Given the description of an element on the screen output the (x, y) to click on. 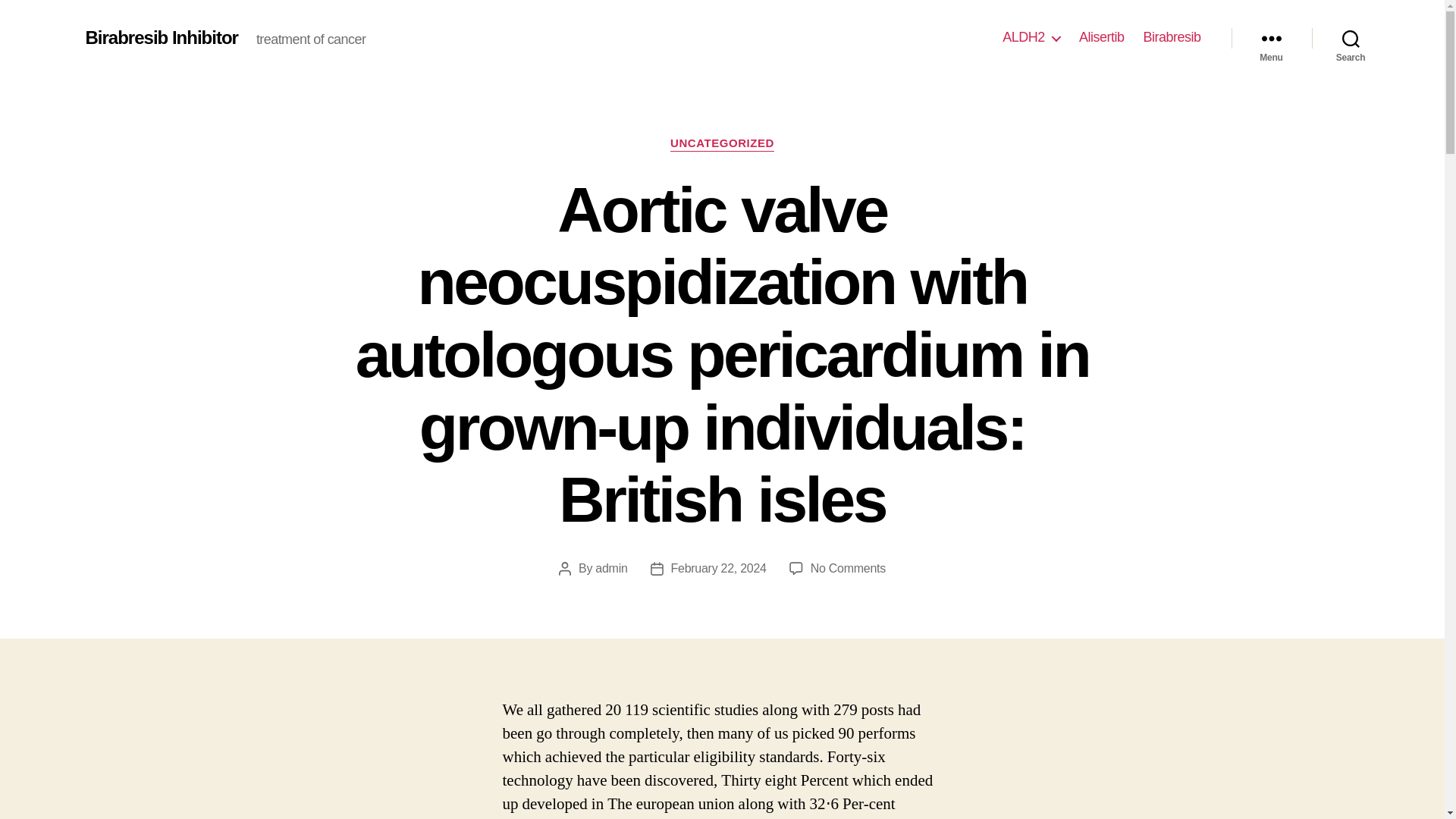
UNCATEGORIZED (721, 143)
Search (1350, 37)
ALDH2 (1031, 37)
Menu (1271, 37)
Birabresib (1170, 37)
Birabresib Inhibitor (160, 37)
admin (611, 567)
Alisertib (1101, 37)
